Given the description of an element on the screen output the (x, y) to click on. 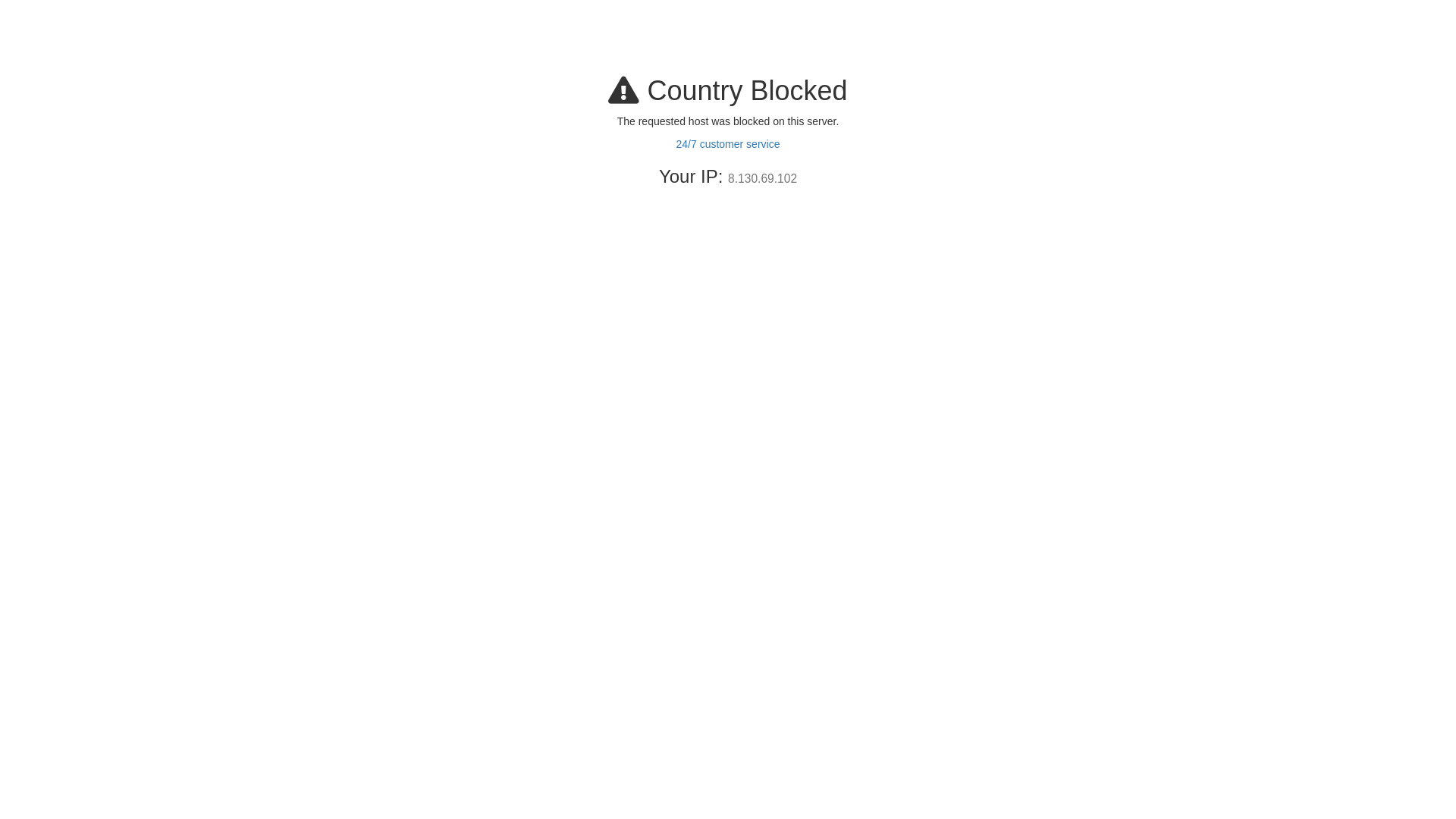
24/7 customer service Element type: text (728, 144)
